Given the description of an element on the screen output the (x, y) to click on. 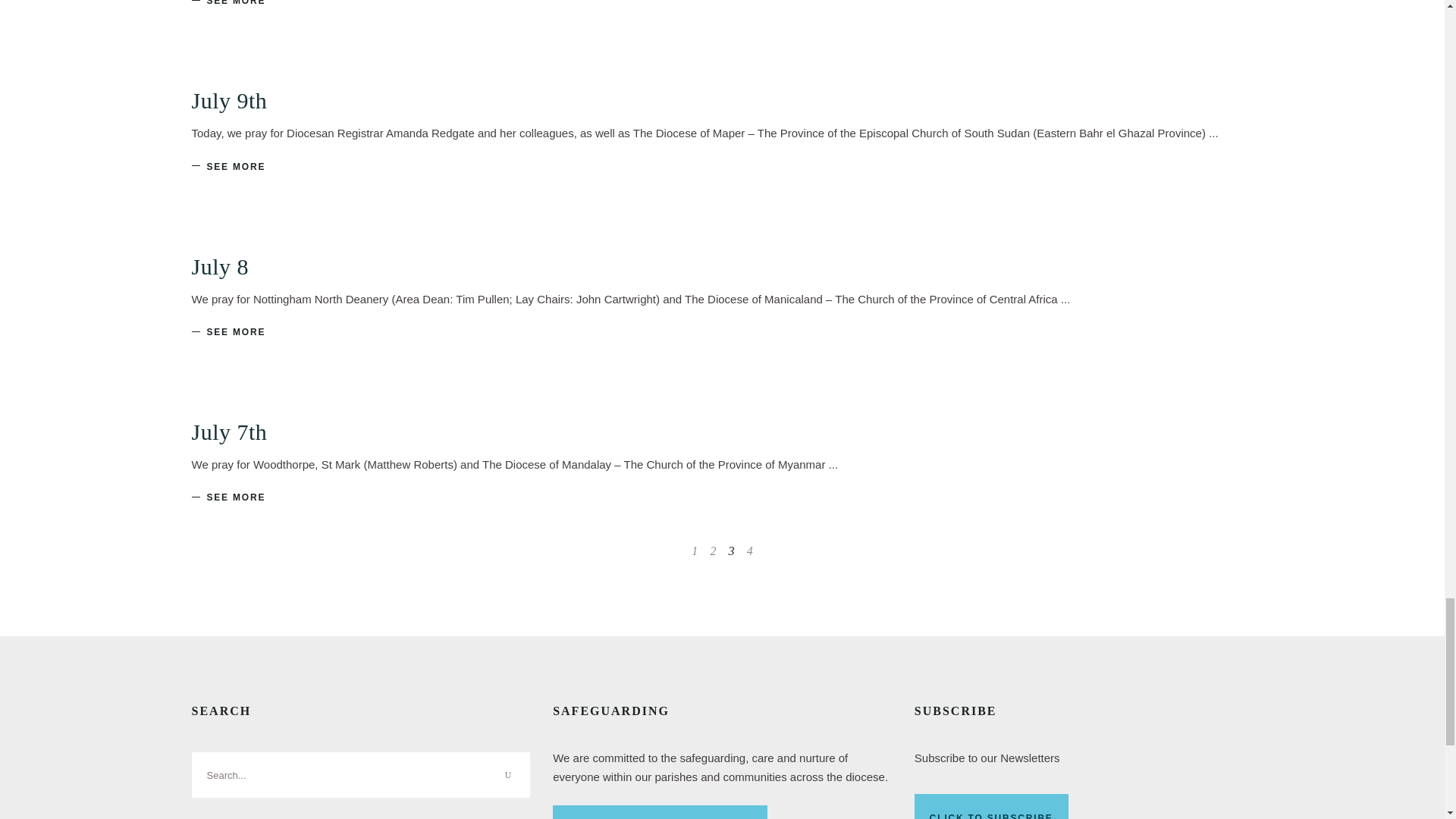
Search for: (359, 774)
July 8 (219, 265)
July 9th (228, 100)
July 7th (228, 431)
